Given the description of an element on the screen output the (x, y) to click on. 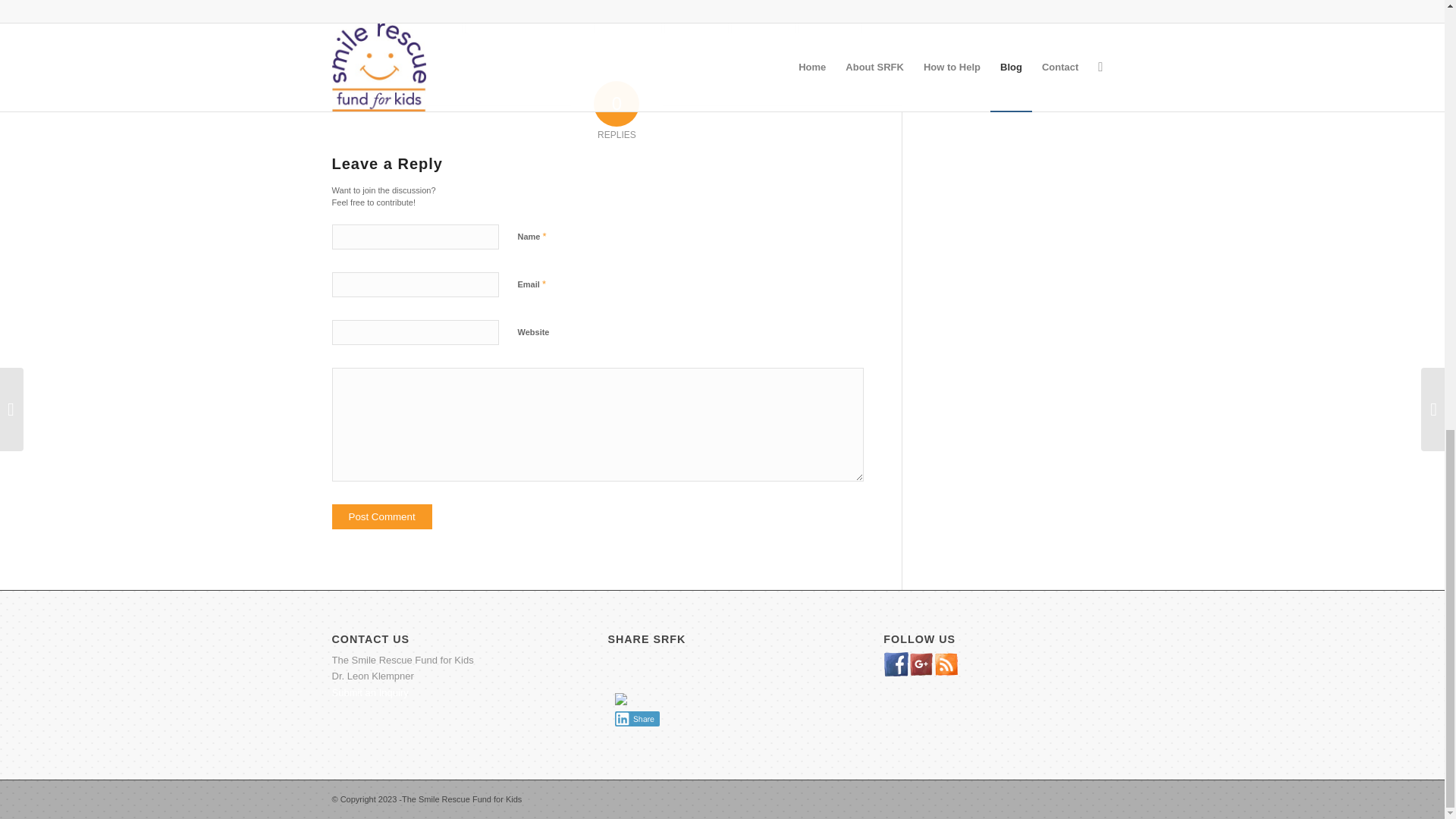
We are up and running! (363, 16)
Post Comment (381, 516)
